Given the description of an element on the screen output the (x, y) to click on. 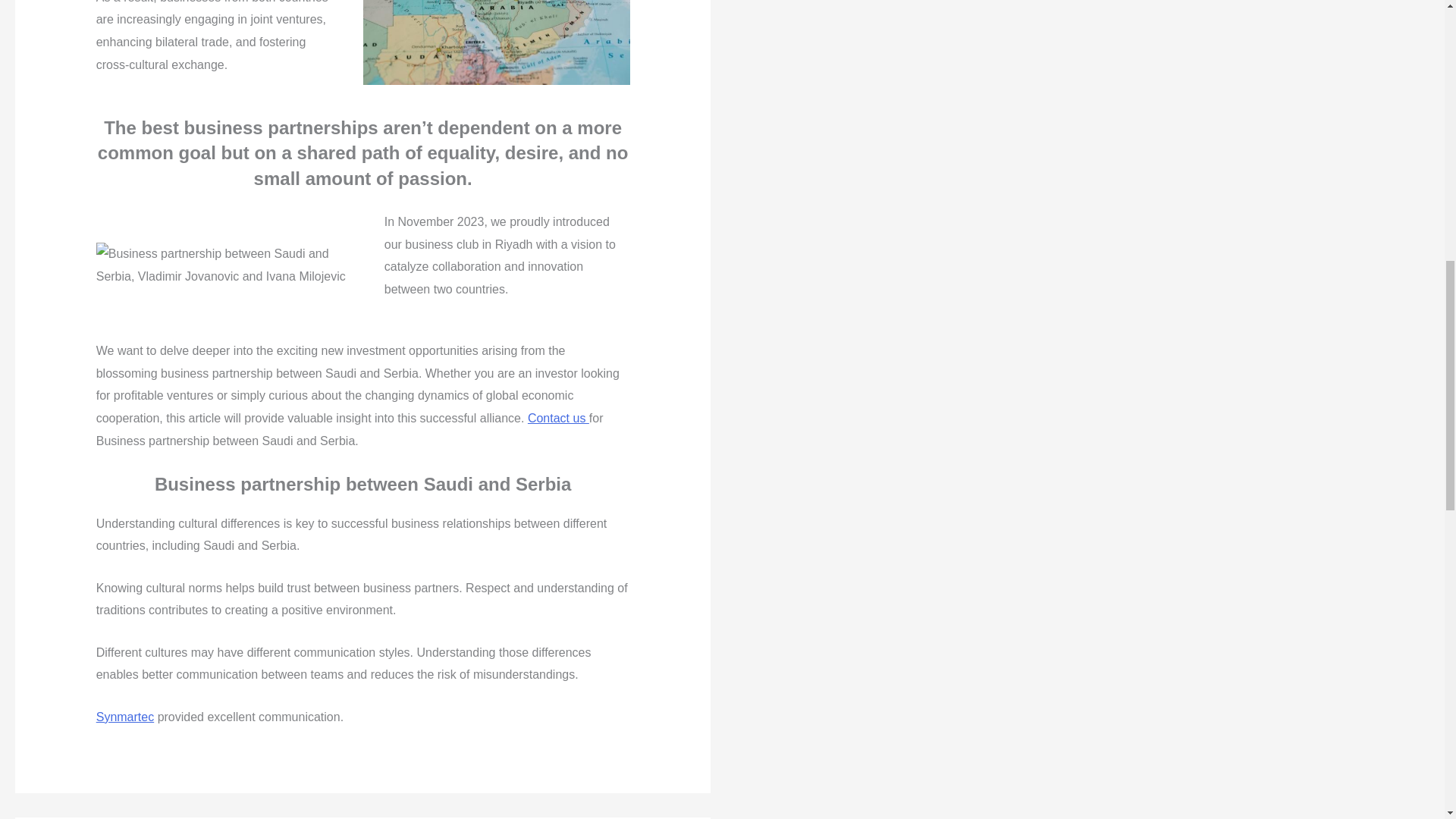
Synmartec (125, 716)
Contact us (558, 418)
